Given the description of an element on the screen output the (x, y) to click on. 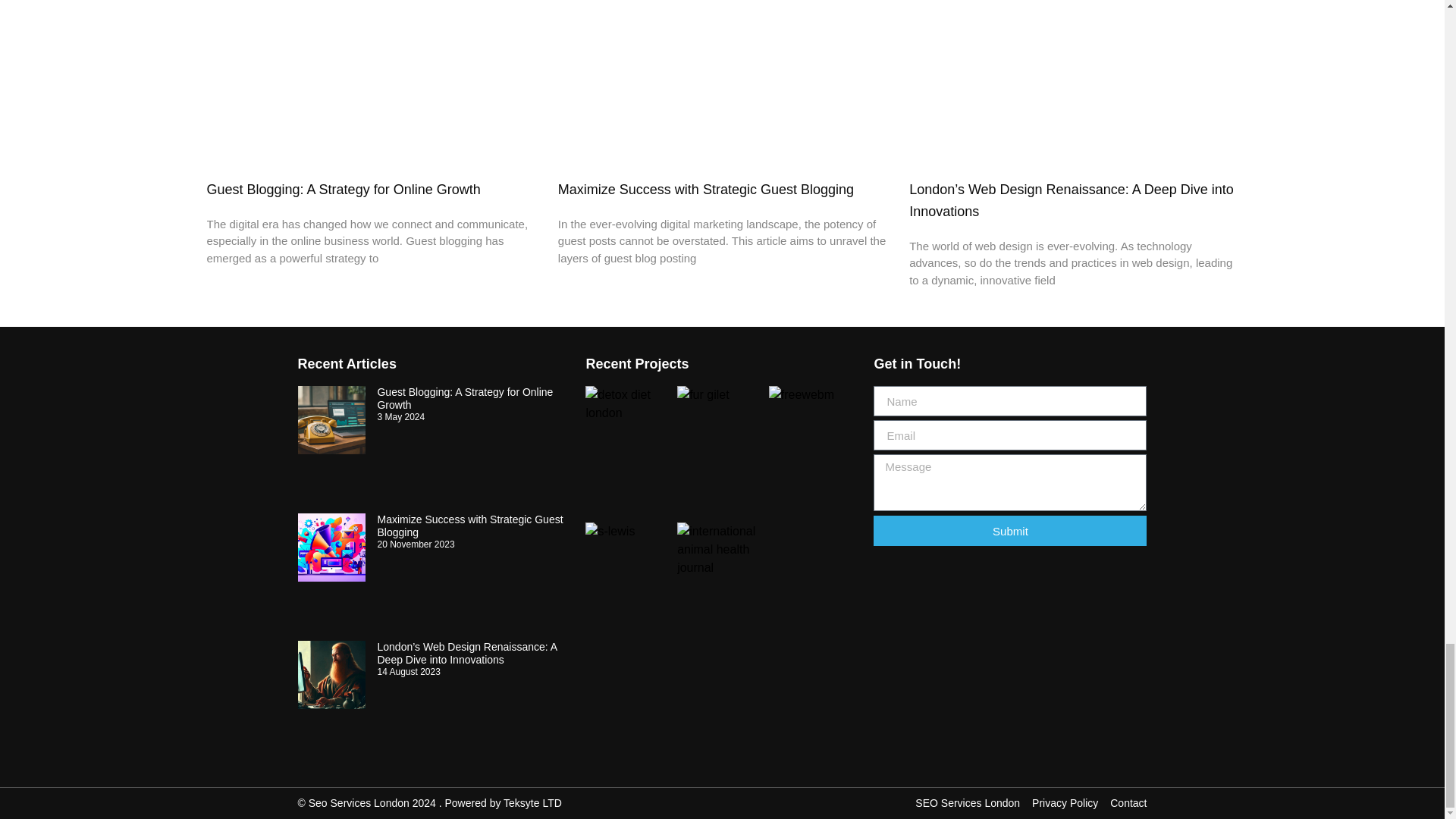
Guest Blogging: A Strategy for Online Growth (343, 189)
Maximize Success with Strategic Guest Blogging (705, 189)
Guest Blogging: A Strategy for Online Growth (465, 398)
Web design services (532, 802)
Maximize Success with Strategic Guest Blogging (469, 525)
